Given the description of an element on the screen output the (x, y) to click on. 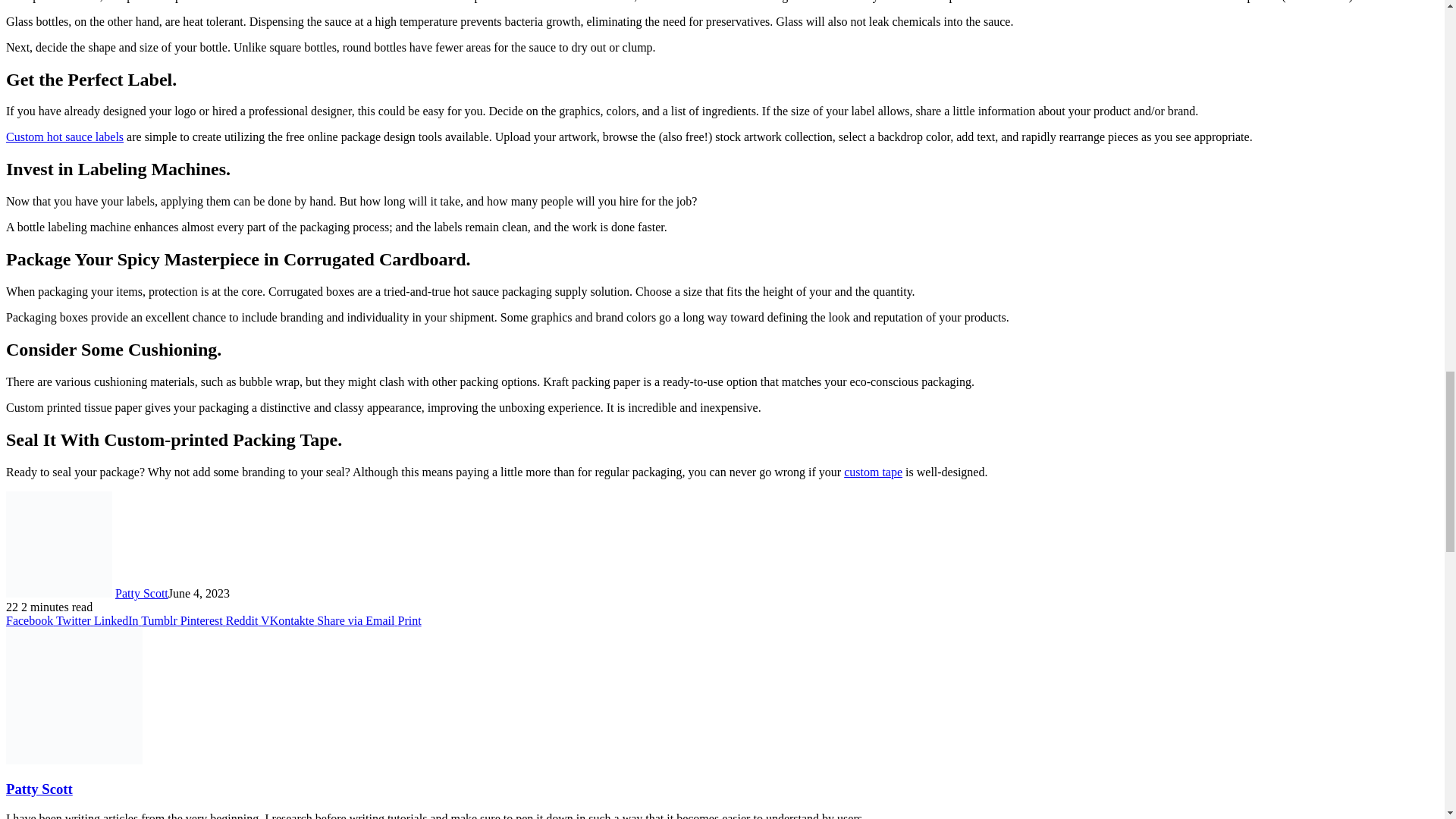
Share via Email (357, 620)
Custom hot sauce labels (64, 136)
Print (408, 620)
VKontakte (288, 620)
Share via Email (357, 620)
Patty Scott (141, 593)
Reddit (242, 620)
Tumblr (160, 620)
Patty Scott (141, 593)
Twitter (75, 620)
Facebook (30, 620)
Facebook (30, 620)
Patty Scott (38, 788)
Pinterest (202, 620)
VKontakte (288, 620)
